Given the description of an element on the screen output the (x, y) to click on. 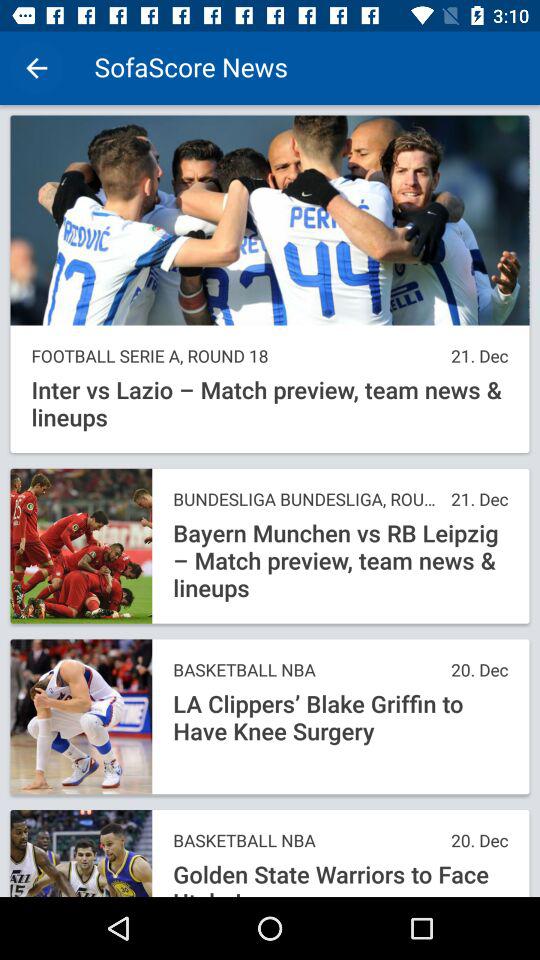
choose the item above the inter vs lazio icon (235, 356)
